Given the description of an element on the screen output the (x, y) to click on. 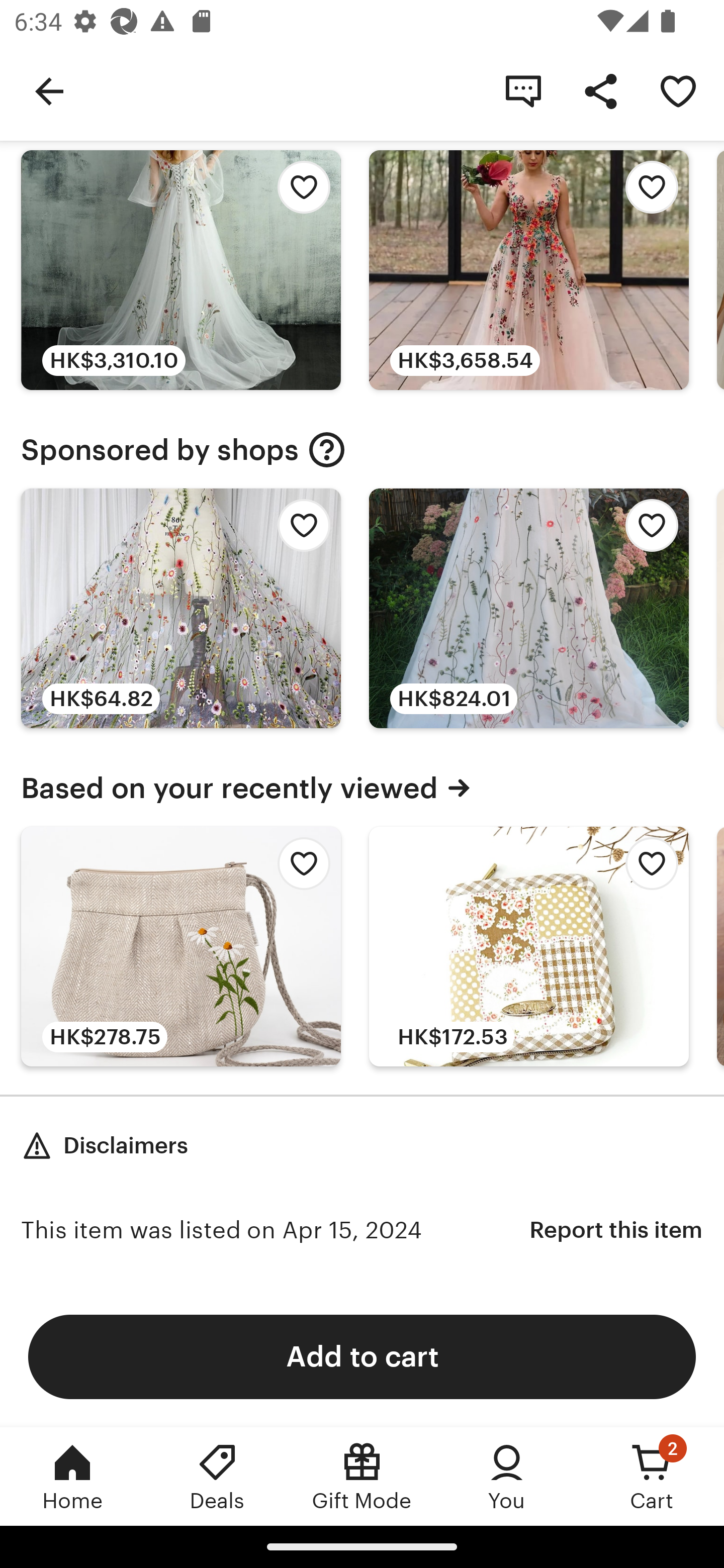
Navigate up (49, 90)
Contact shop (523, 90)
Share (600, 90)
Add Floral Wedding Dress to favorites (298, 192)
Sponsored by shops Sponsored by shops About (362, 449)
Based on your recently viewed  (362, 787)
Disclaimers (104, 1145)
Report this item (616, 1230)
Add to cart (361, 1355)
Deals (216, 1475)
Gift Mode (361, 1475)
You (506, 1475)
Cart, 2 new notifications Cart (651, 1475)
